Given the description of an element on the screen output the (x, y) to click on. 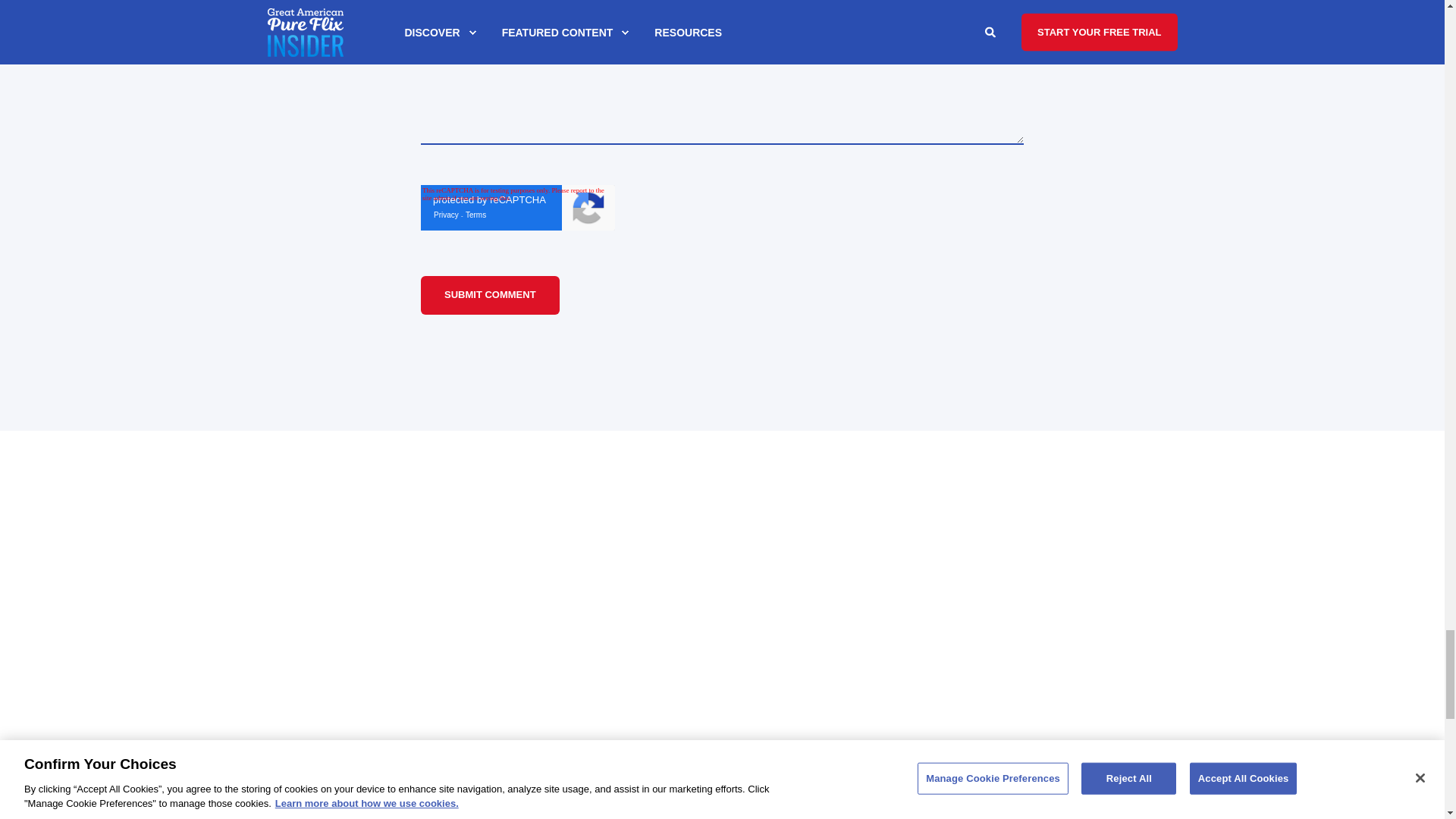
Submit Comment (489, 295)
reCAPTCHA (517, 207)
